Given the description of an element on the screen output the (x, y) to click on. 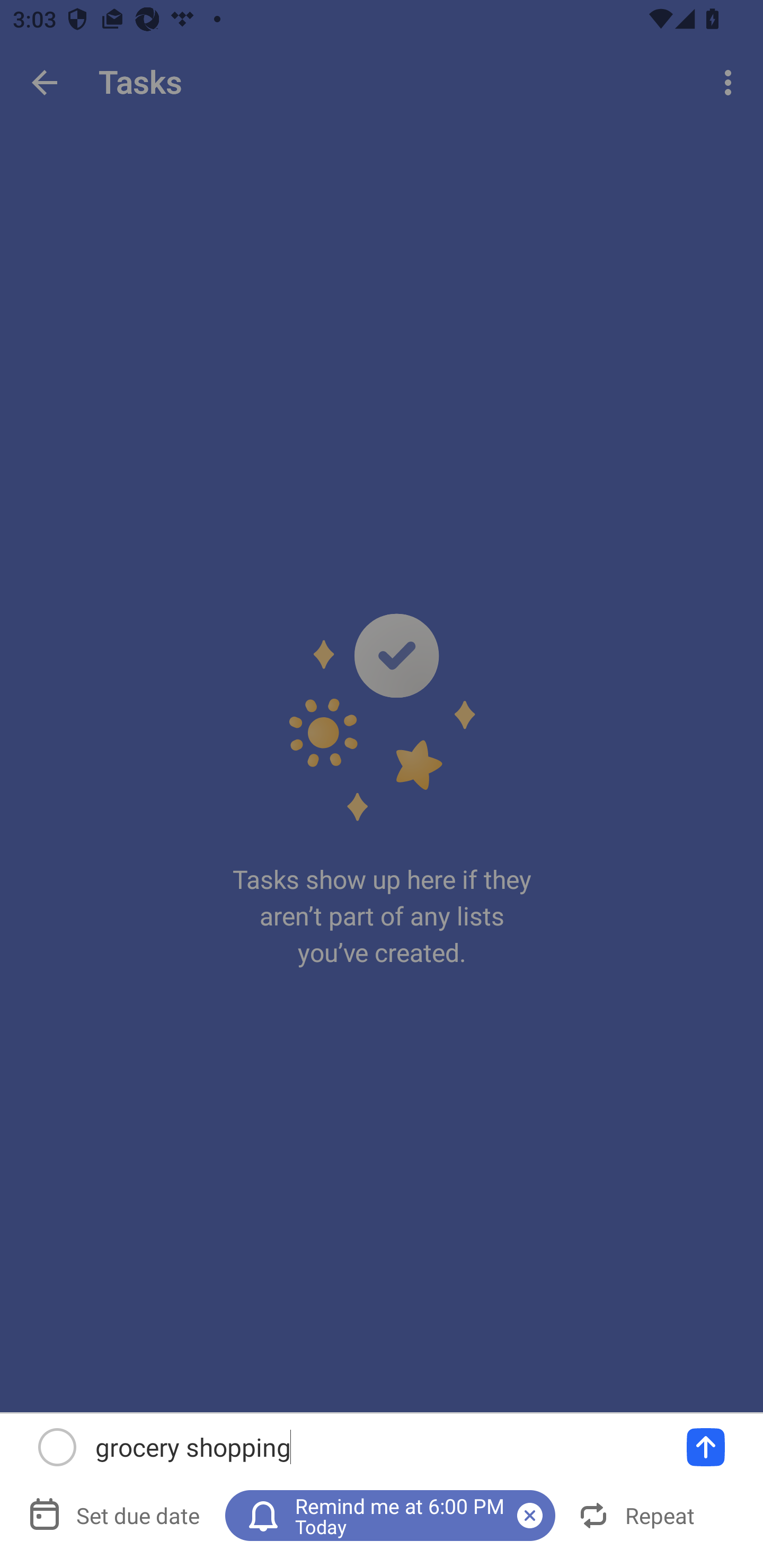
Add a task (705, 1446)
